Given the description of an element on the screen output the (x, y) to click on. 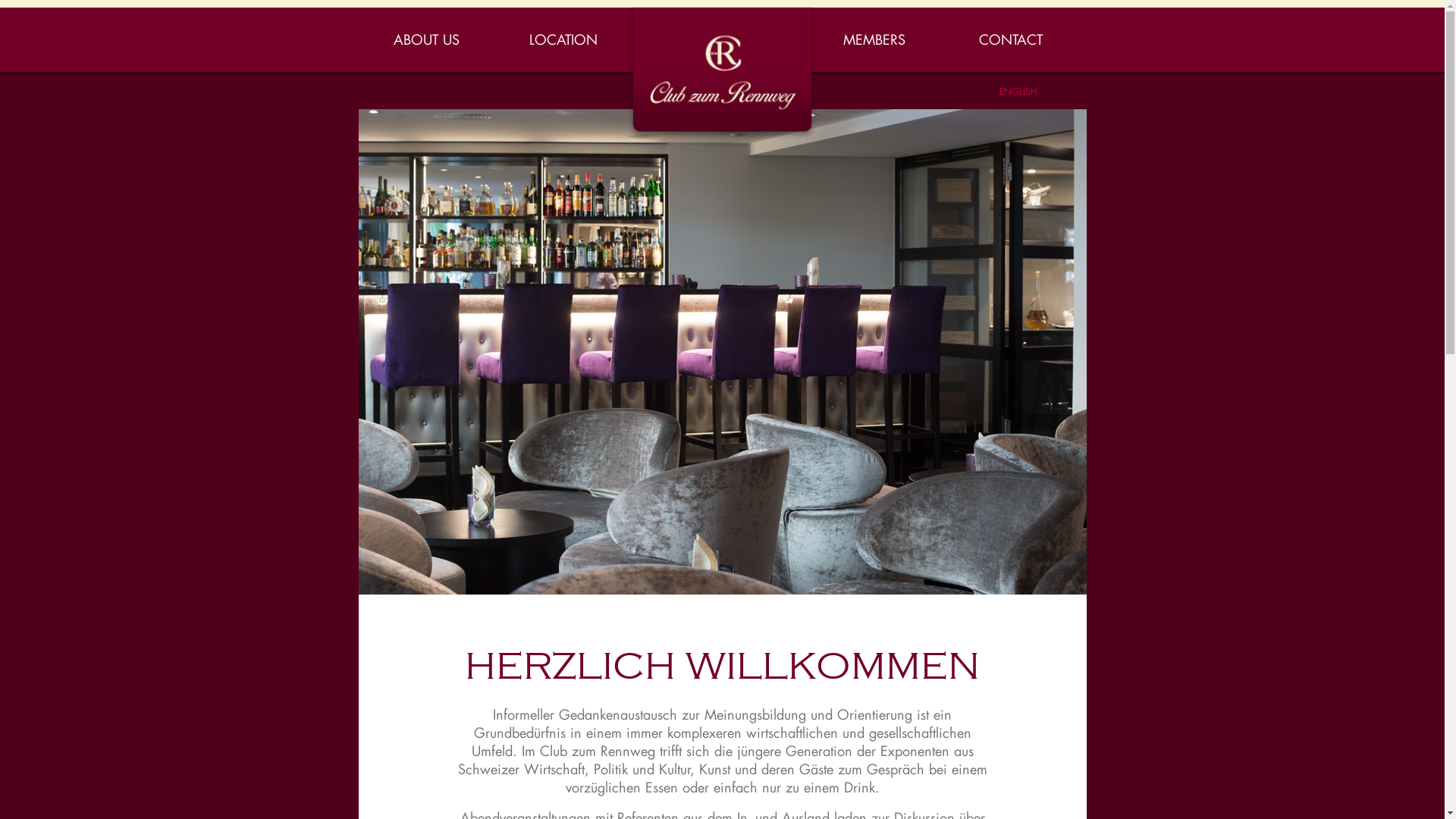
ABOUT US Element type: text (425, 39)
CONTACT Element type: text (1010, 39)
Inhalt Element type: text (14, 16)
MEMBERS Element type: text (874, 39)
Club zum Rennweg Element type: hover (722, 64)
LOCATION Element type: text (562, 39)
ENGLISH Element type: text (1018, 91)
Navigation Element type: text (28, 16)
